Given the description of an element on the screen output the (x, y) to click on. 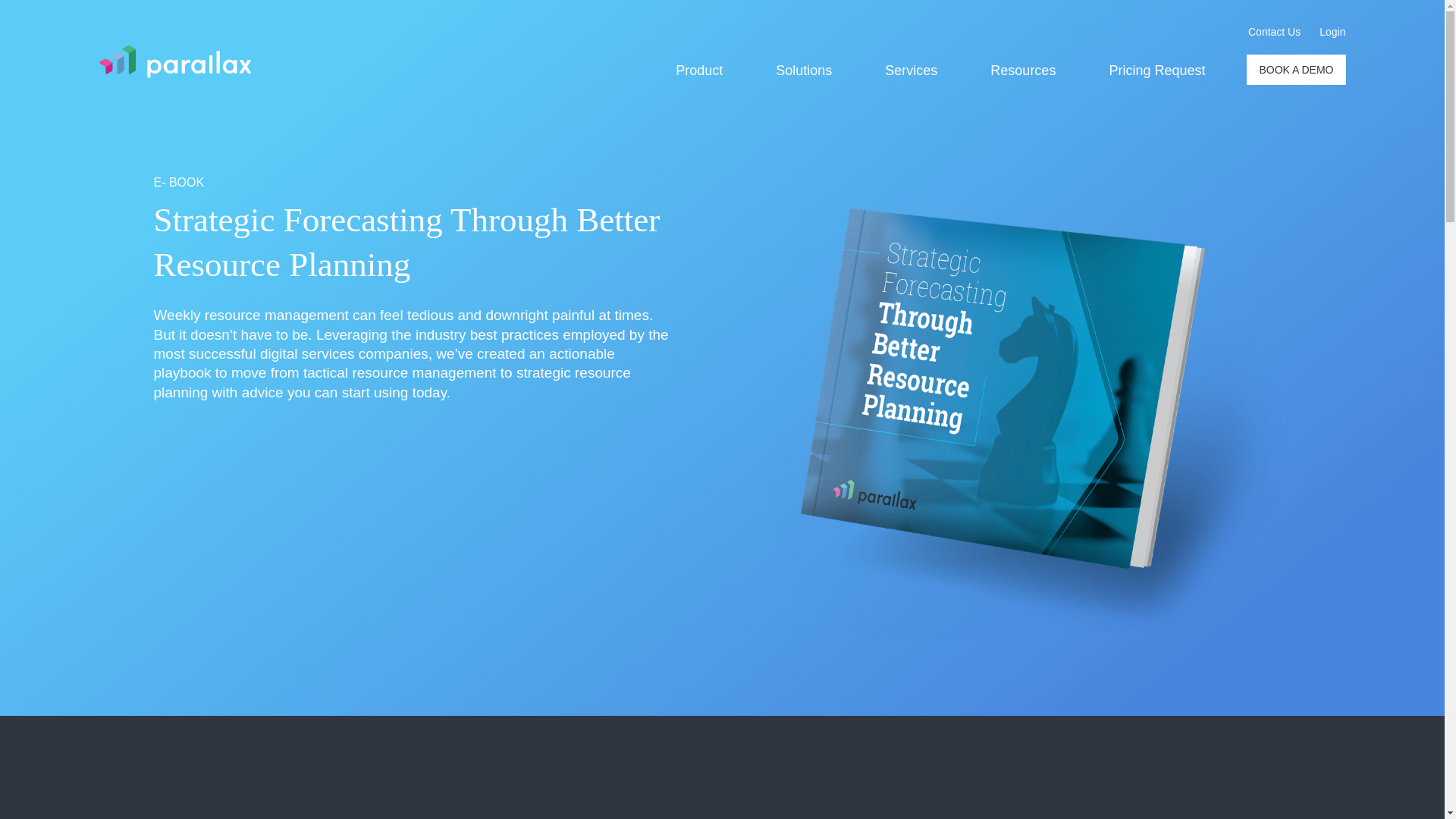
Services (911, 71)
Resources (1022, 71)
Login (1332, 32)
Product (698, 71)
Pricing Request (1156, 71)
Solutions (803, 71)
Contact Us (1273, 32)
BOOK A DEMO (1295, 69)
